Given the description of an element on the screen output the (x, y) to click on. 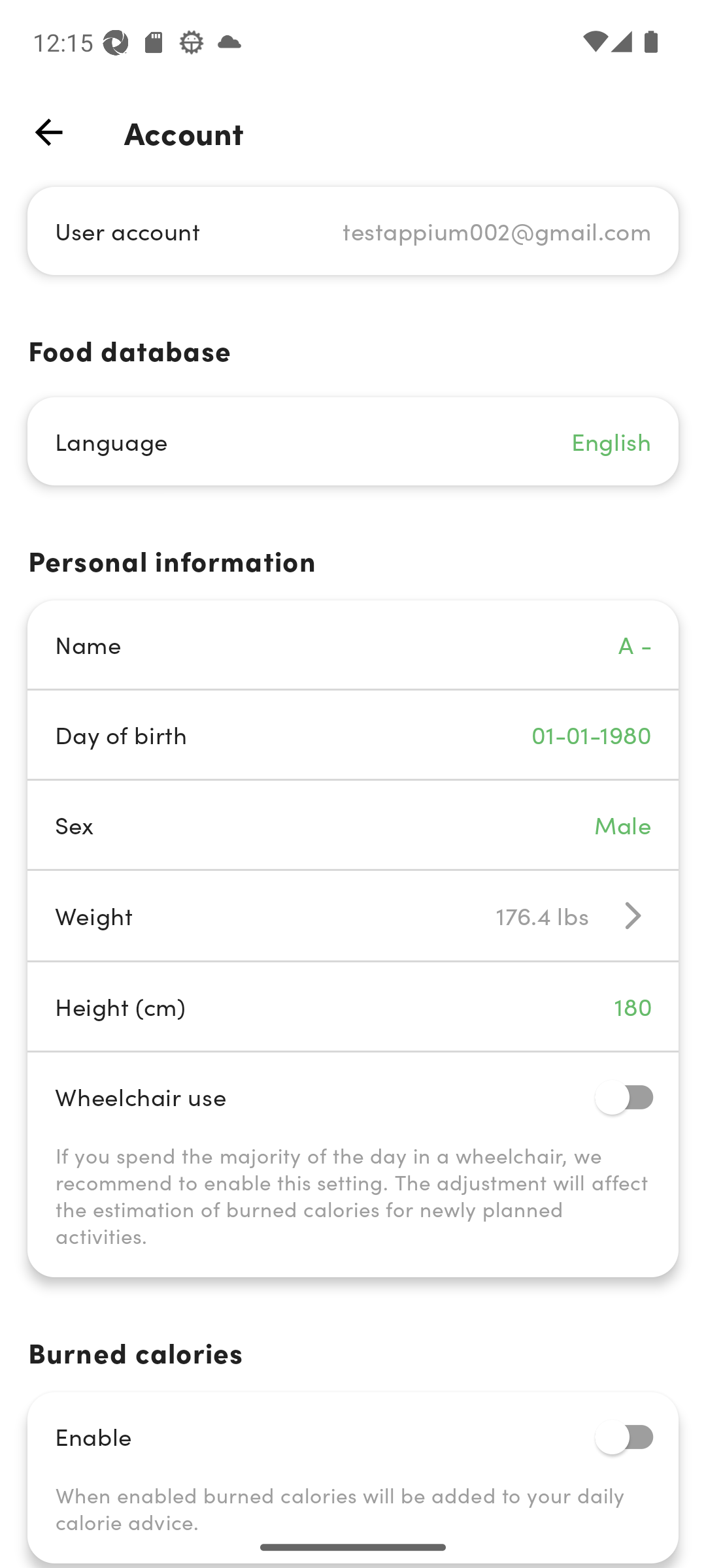
top_left_action (48, 132)
User account testappium002@gmail.com (352, 230)
Language English (352, 441)
Name A - (352, 644)
Day of birth 01-01-1980 (352, 734)
Sex Male (352, 824)
Weight 176.4 lbs (352, 914)
Height (cm) 180 (352, 1006)
Wheelchair use (352, 1096)
Enable (352, 1436)
